Given the description of an element on the screen output the (x, y) to click on. 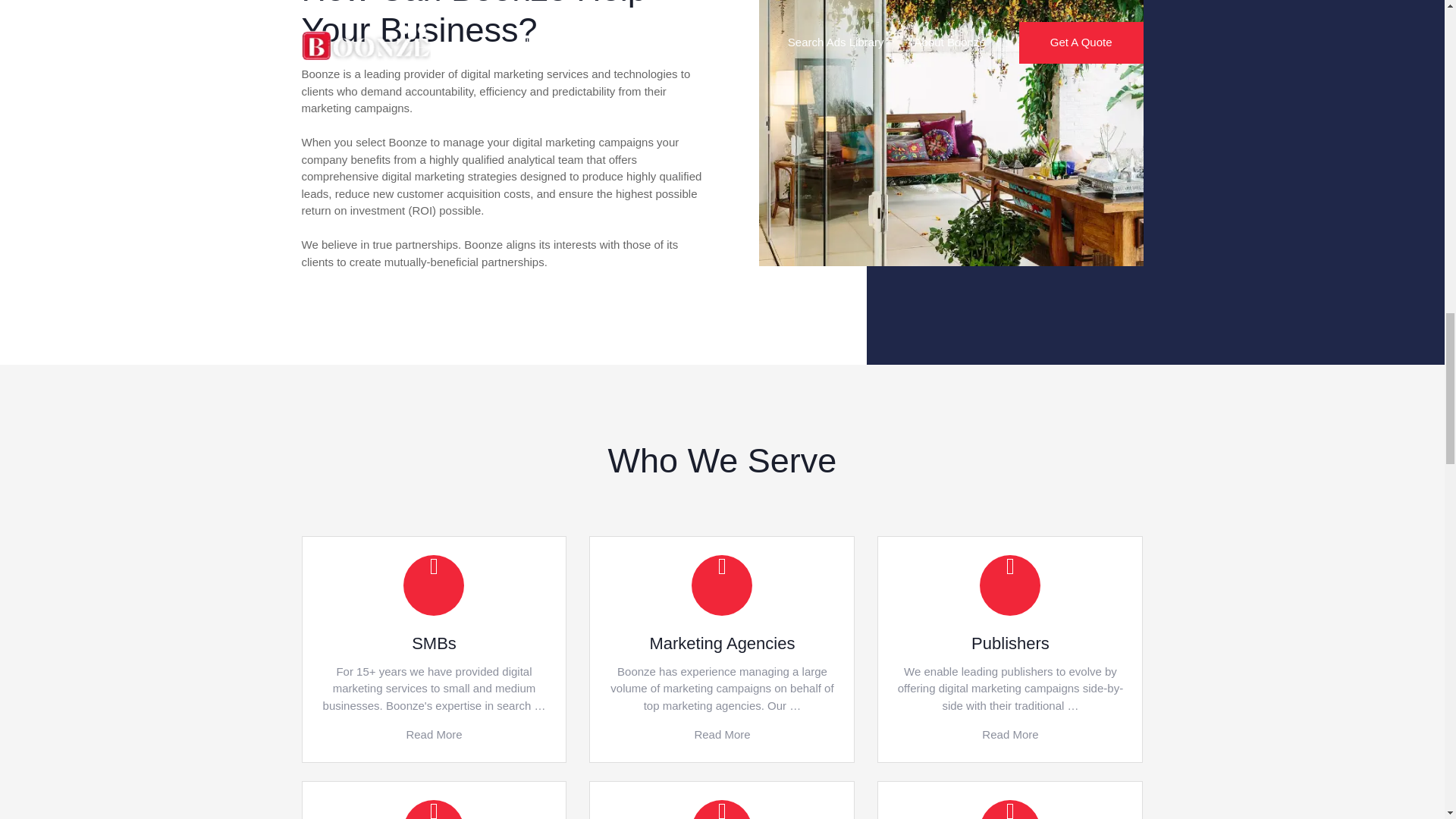
Read More (433, 734)
Read More (721, 734)
Read More (1009, 734)
